Given the description of an element on the screen output the (x, y) to click on. 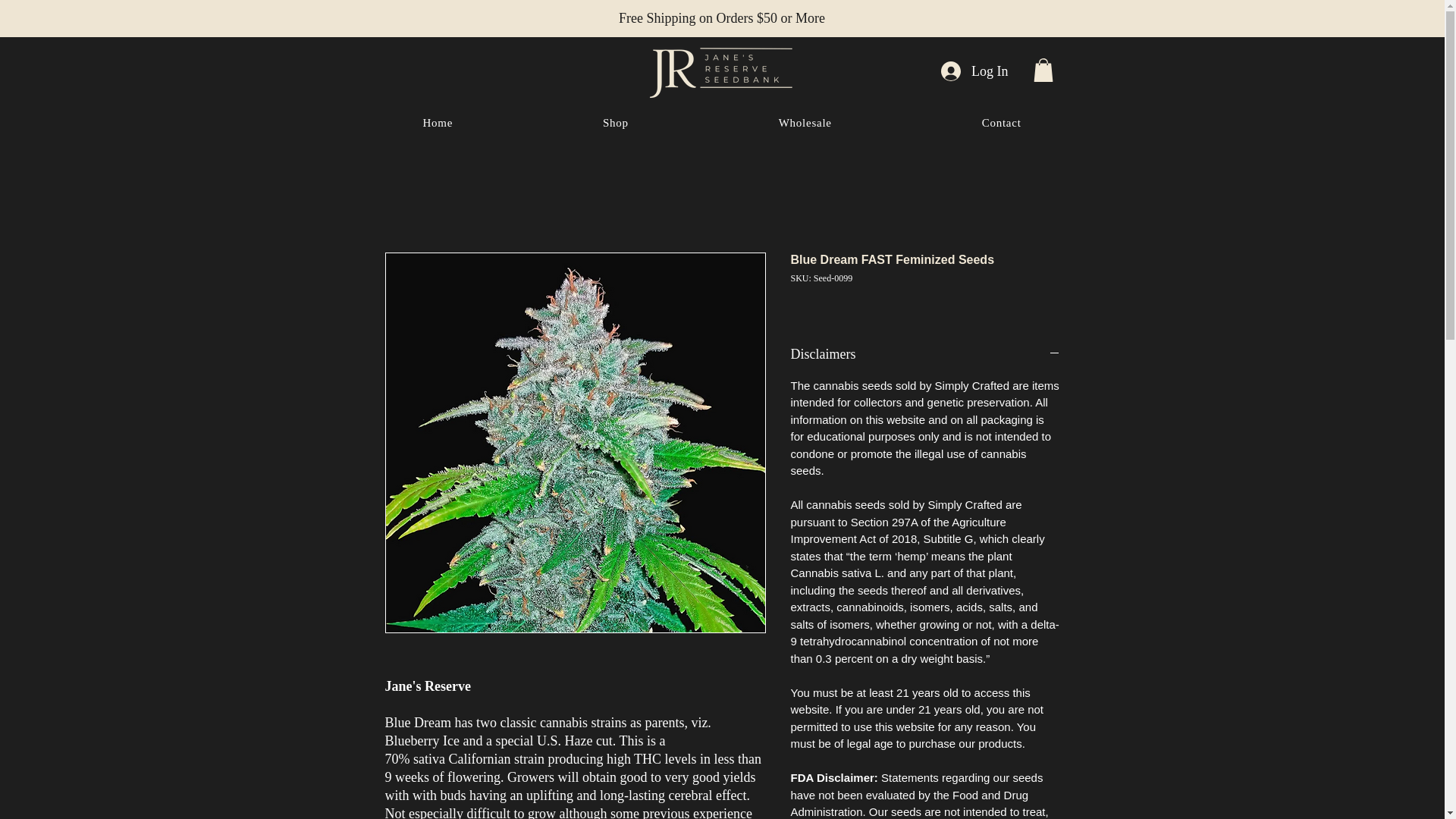
Log In (974, 70)
Home (437, 122)
Wholesale (805, 122)
Contact (1001, 122)
Shop (615, 122)
Disclaimers (924, 353)
